Given the description of an element on the screen output the (x, y) to click on. 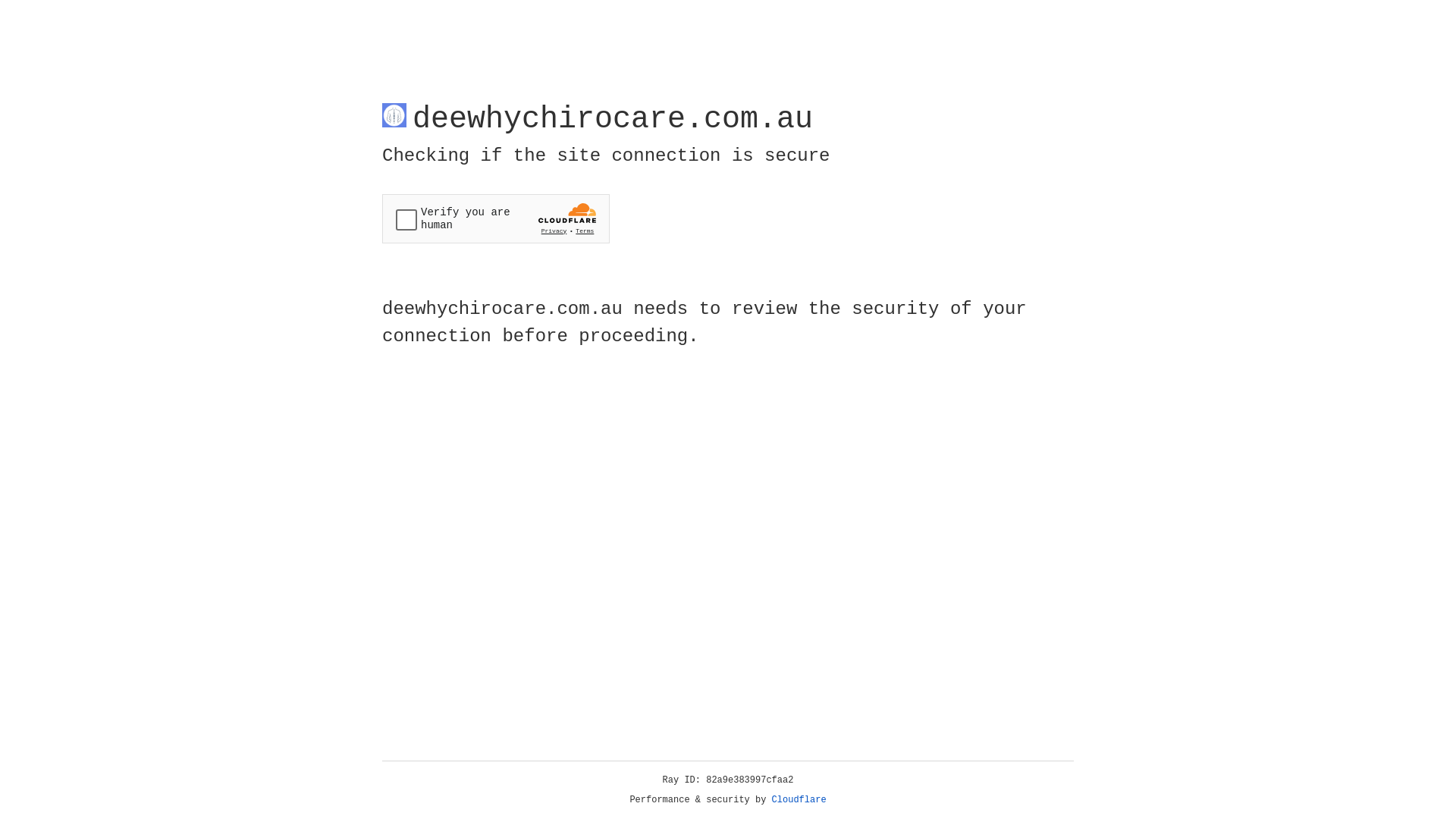
Cloudflare Element type: text (798, 799)
Widget containing a Cloudflare security challenge Element type: hover (495, 218)
